Given the description of an element on the screen output the (x, y) to click on. 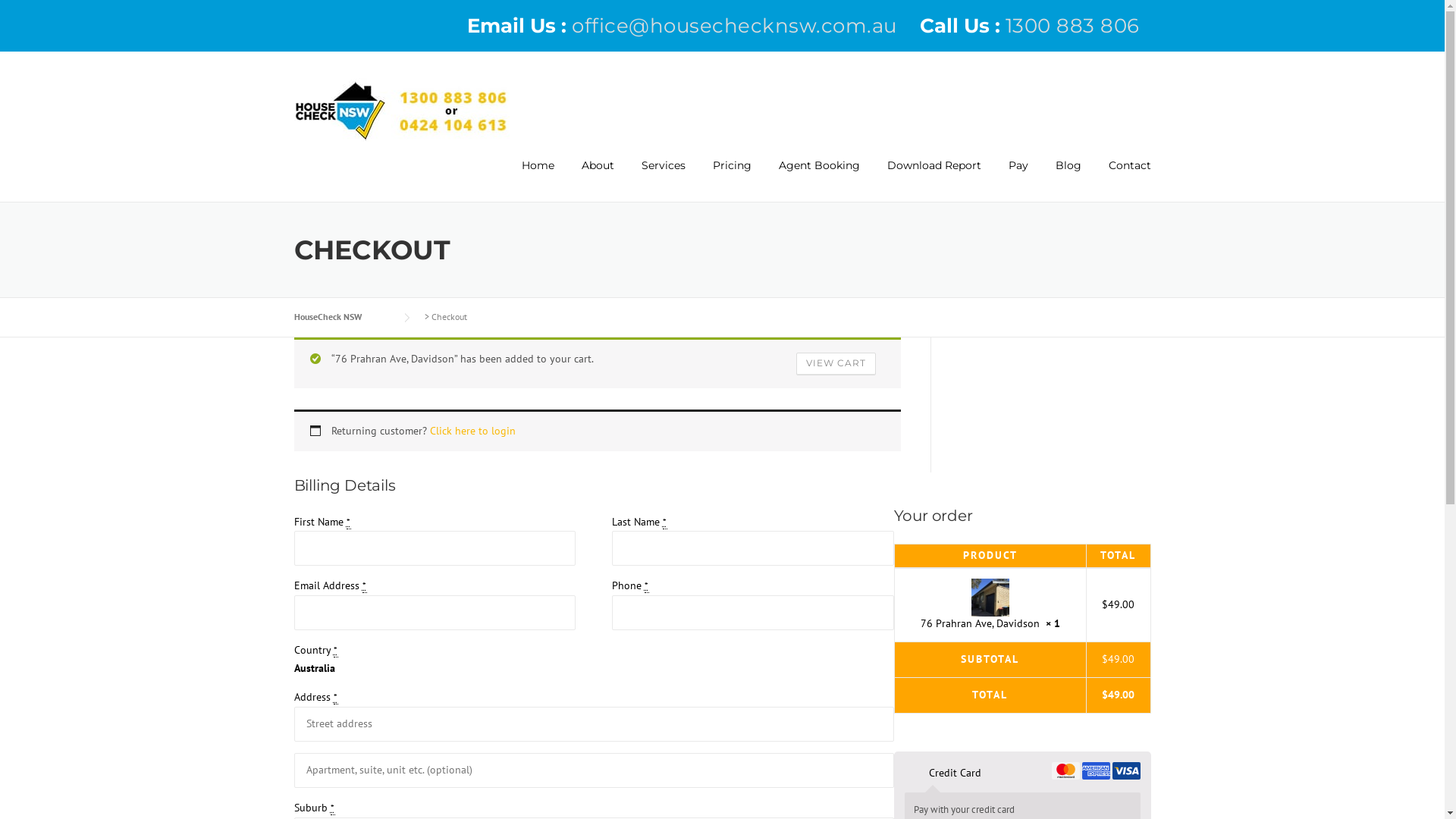
HouseCheck NSW Element type: text (343, 316)
Skip to content Element type: text (35, 9)
Download Report Element type: text (933, 178)
Click here to login Element type: text (471, 430)
VIEW CART Element type: text (835, 363)
Blog Element type: text (1068, 178)
HouseCheck NSW Element type: hover (401, 109)
Home Element type: text (537, 178)
1300 883 806 Element type: text (1072, 25)
About Element type: text (597, 178)
Pay Element type: text (1017, 178)
Agent Booking Element type: text (818, 178)
office@housechecknsw.com.au Element type: text (734, 25)
Services Element type: text (663, 178)
Contact Element type: text (1123, 178)
Pricing Element type: text (732, 178)
